Given the description of an element on the screen output the (x, y) to click on. 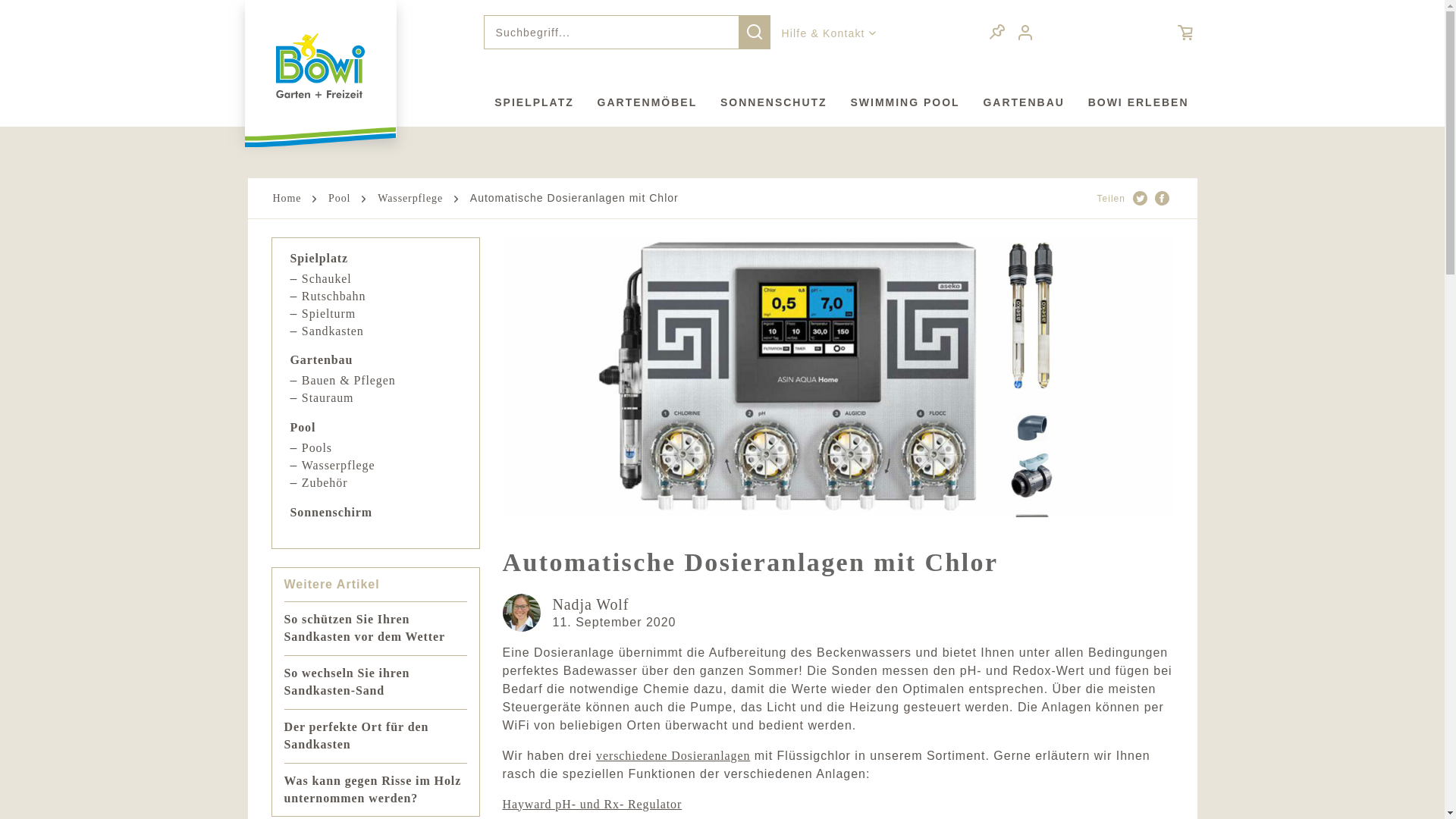
Wasserpflege Element type: text (338, 464)
Spielturm Element type: text (328, 313)
Merkzettel Element type: hover (996, 33)
bowi.ch - zur Startseite wechseln Element type: hover (320, 65)
Nadja Wolf Element type: text (590, 604)
Gartenbau Element type: text (320, 360)
Stauraum Element type: text (327, 397)
So wechseln Sie ihren Sandkasten-Sand Element type: text (346, 681)
Bauen & Pflegen Element type: text (348, 379)
Rutschbahn Element type: text (333, 295)
SWIMMING POOL Element type: text (893, 102)
Warenkorb Element type: hover (1169, 32)
verschiedene Dosieranlagen Element type: text (672, 755)
Sandkasten Element type: text (332, 330)
Sonnenschirm Element type: text (330, 512)
Pool Element type: text (302, 427)
SONNENSCHUTZ Element type: text (761, 102)
Wasserpflege Element type: text (410, 198)
SPIELPLATZ Element type: text (522, 102)
Pool Element type: text (338, 198)
Mein Konto Element type: hover (1026, 32)
Schaukel Element type: text (326, 278)
Spielplatz Element type: text (318, 258)
Home Element type: text (287, 198)
Was kann gegen Risse im Holz unternommen werden? Element type: text (372, 789)
GARTENBAU Element type: text (1012, 102)
Pools Element type: text (316, 447)
BOWI ERLEBEN Element type: text (1126, 102)
Hayward pH- und Rx- Regulator Element type: text (591, 803)
